Given the description of an element on the screen output the (x, y) to click on. 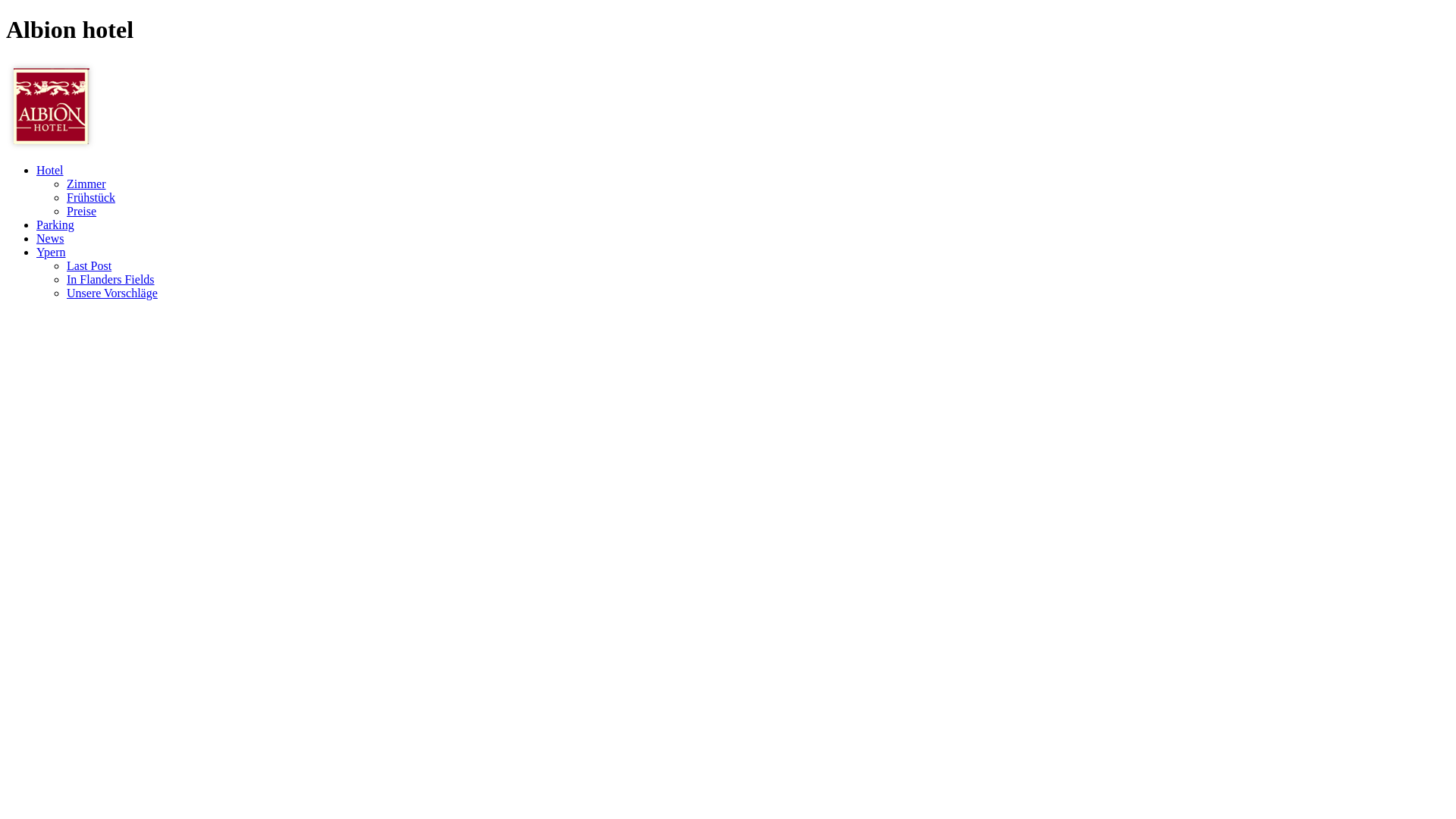
Zimmer Element type: text (86, 183)
Ypern Element type: text (50, 251)
In Flanders Fields Element type: text (110, 279)
Albion Hotel Ypres Element type: hover (51, 105)
Last Post Element type: text (88, 265)
Hotel Element type: text (49, 169)
News Element type: text (49, 238)
Preise Element type: text (81, 210)
Albion Hotel Ypres Element type: hover (51, 147)
Parking Element type: text (55, 224)
